Given the description of an element on the screen output the (x, y) to click on. 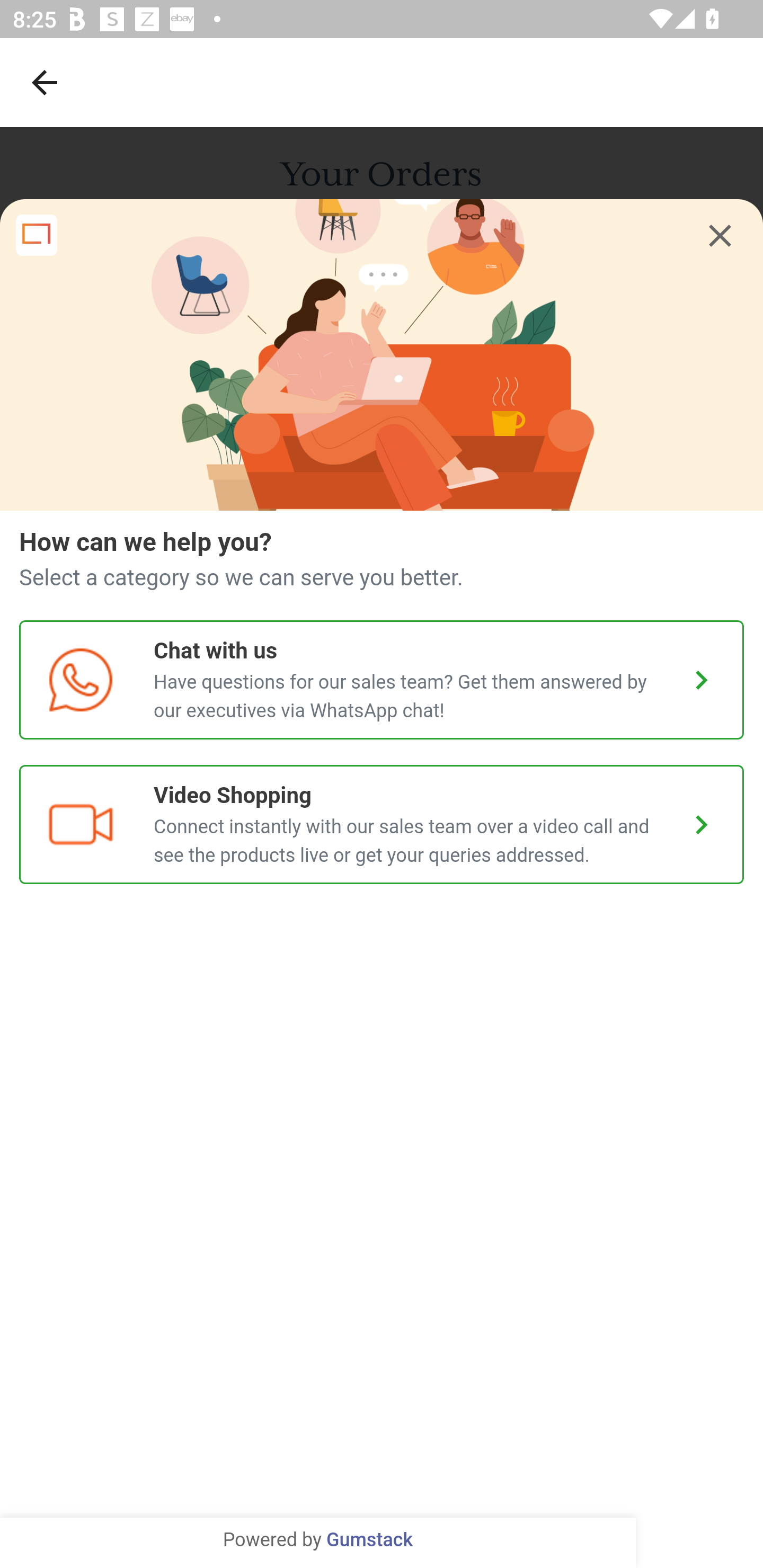
Navigate up (44, 82)
clear (720, 235)
Gumstack (369, 1540)
